Given the description of an element on the screen output the (x, y) to click on. 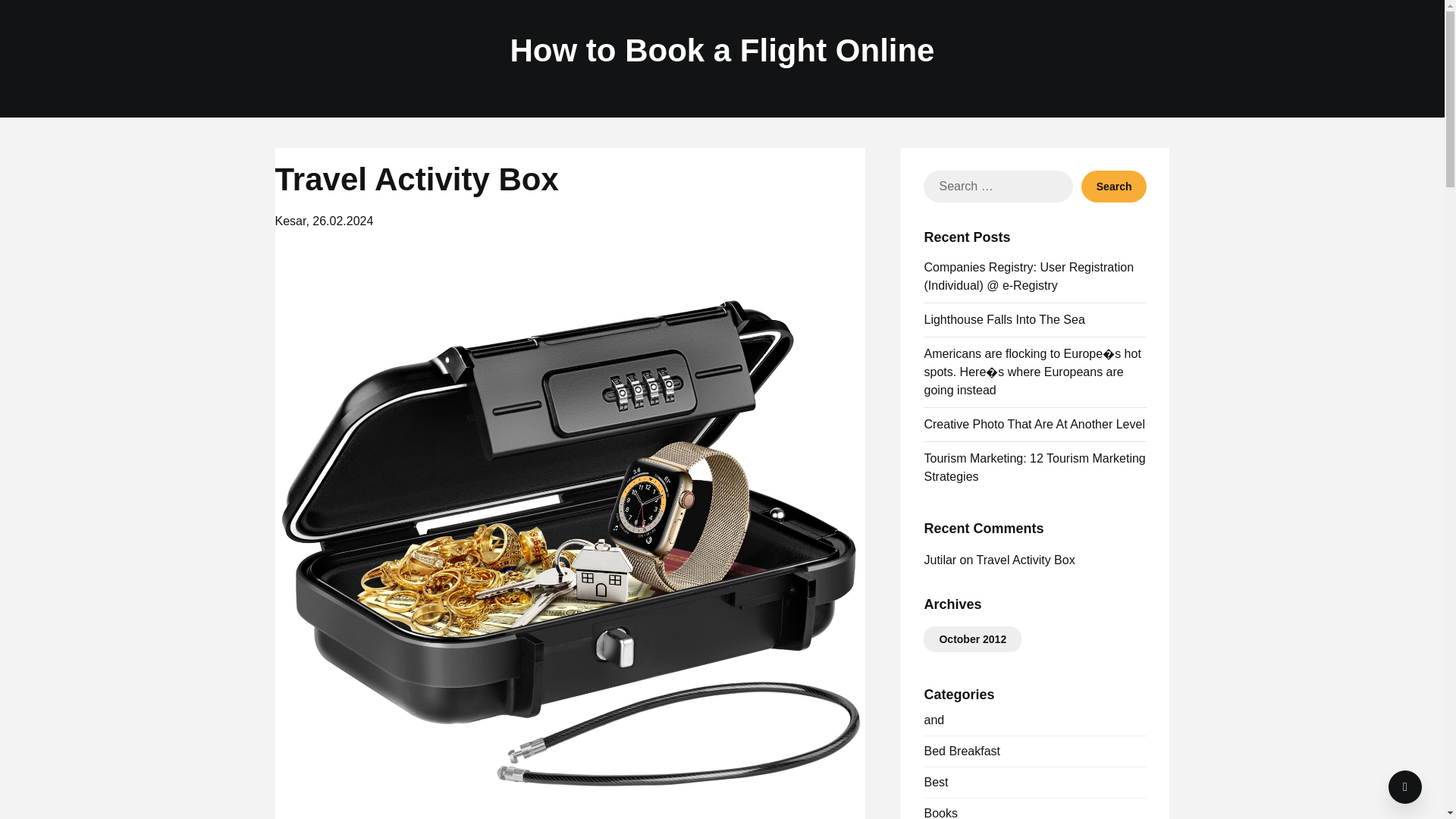
October 2012 (972, 639)
Lighthouse Falls Into The Sea (1003, 318)
To Top (1405, 786)
and (933, 719)
Creative Photo That Are At Another Level (1033, 423)
How to Book a Flight Online (722, 51)
Travel Activity Box (1025, 559)
Search (1114, 186)
Books (939, 812)
Bed Breakfast (961, 750)
Tourism Marketing: 12 Tourism Marketing Strategies (1033, 467)
Search (1114, 186)
26.02.2024 (342, 220)
Best (935, 781)
